Given the description of an element on the screen output the (x, y) to click on. 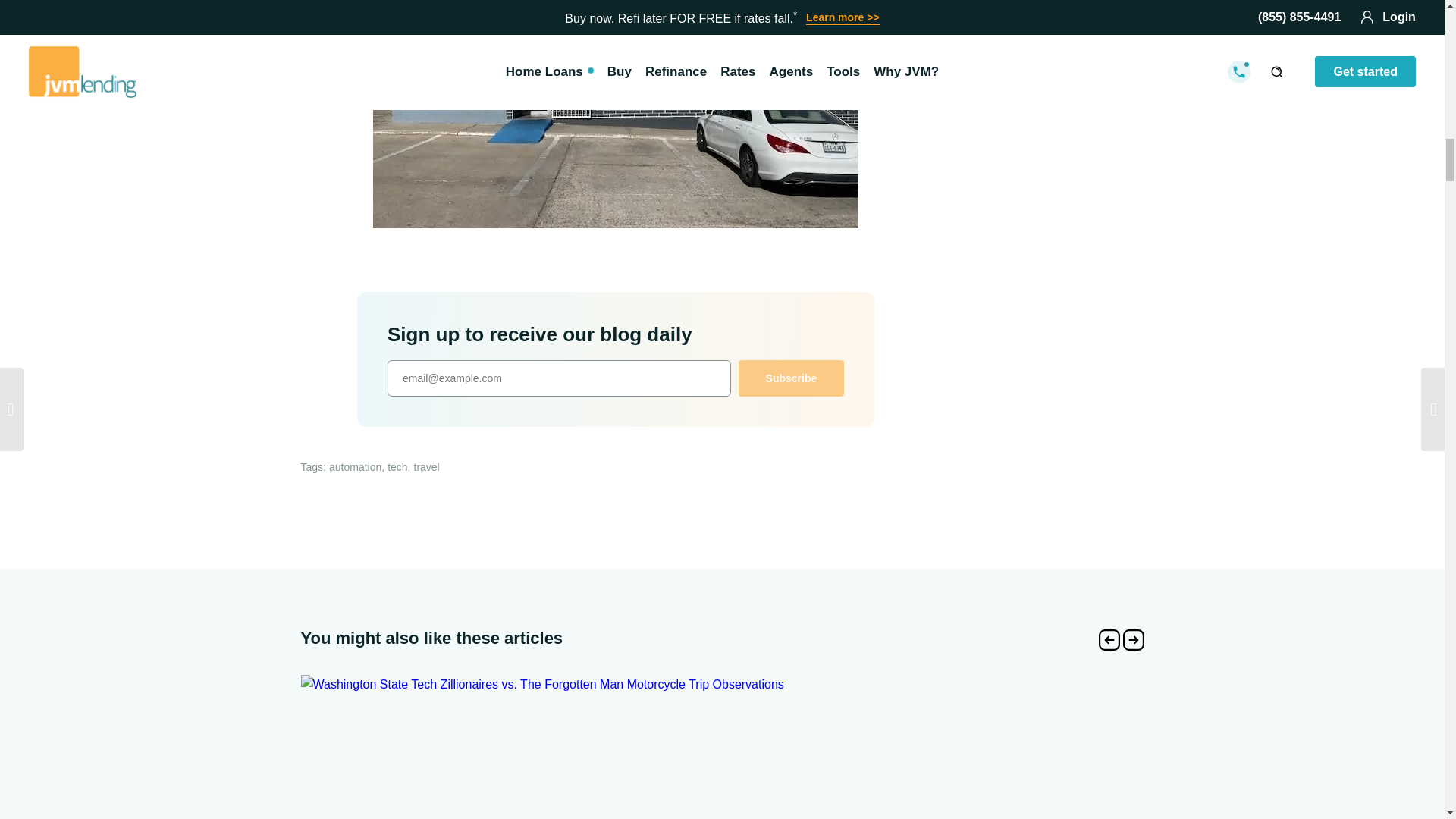
tech (397, 467)
travel (426, 467)
automation (355, 467)
Subscribe (791, 378)
